Given the description of an element on the screen output the (x, y) to click on. 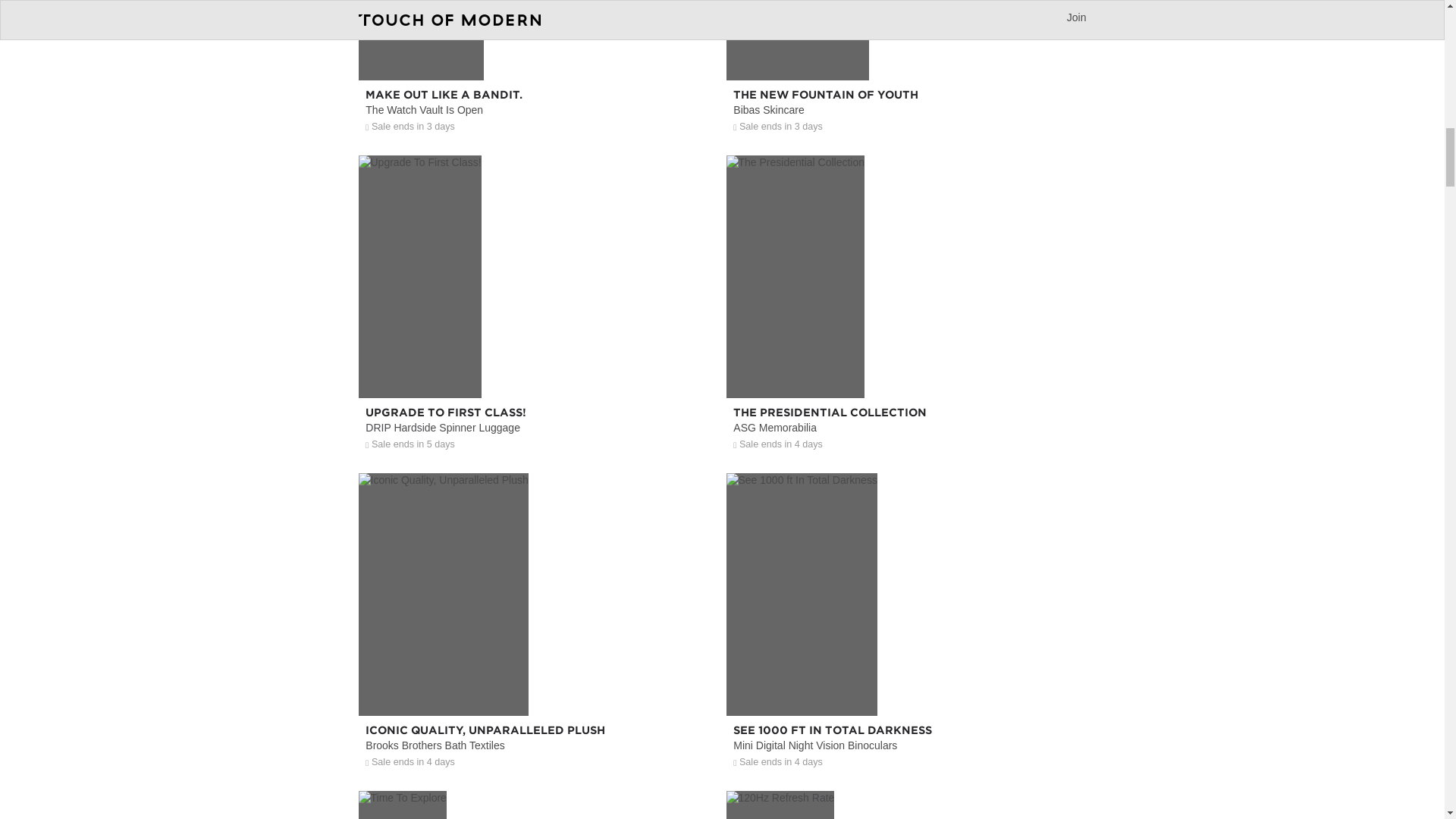
The New Fountain Of Youth (906, 72)
Iconic Quality, Unparalleled Plush (537, 683)
See 1000 ft In Total Darkness (906, 683)
Upgrade To First Class! (537, 365)
The Presidential Collection  (906, 365)
Make Out Like A Bandit. (537, 72)
